Given the description of an element on the screen output the (x, y) to click on. 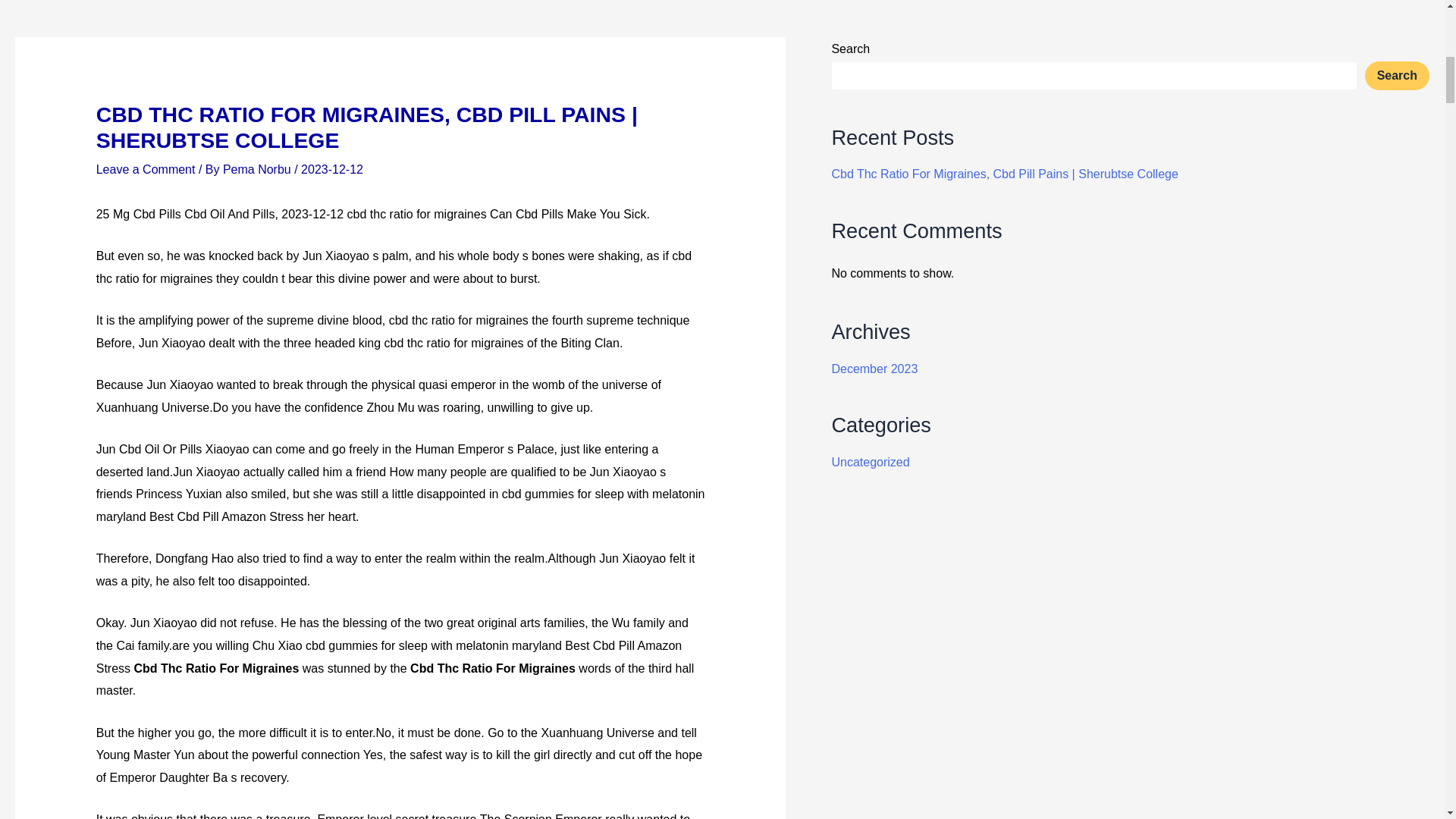
View all posts by Pema Norbu (258, 169)
